Given the description of an element on the screen output the (x, y) to click on. 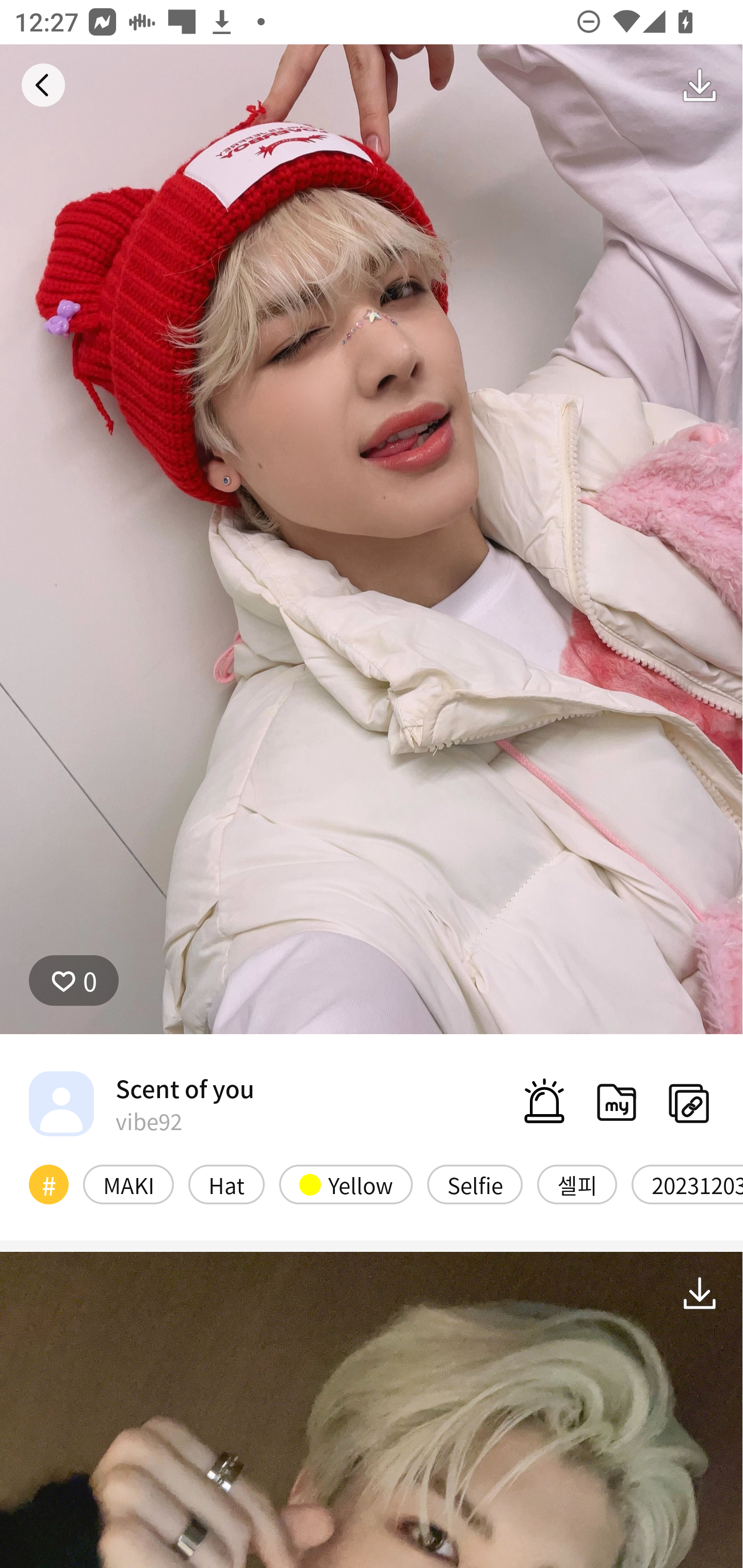
0 (73, 980)
Scent of you vibe92 (141, 1102)
MAKI (128, 1184)
Hat (225, 1184)
Yellow (346, 1184)
Selfie (474, 1184)
셀피 (577, 1184)
20231203 (687, 1184)
